Given the description of an element on the screen output the (x, y) to click on. 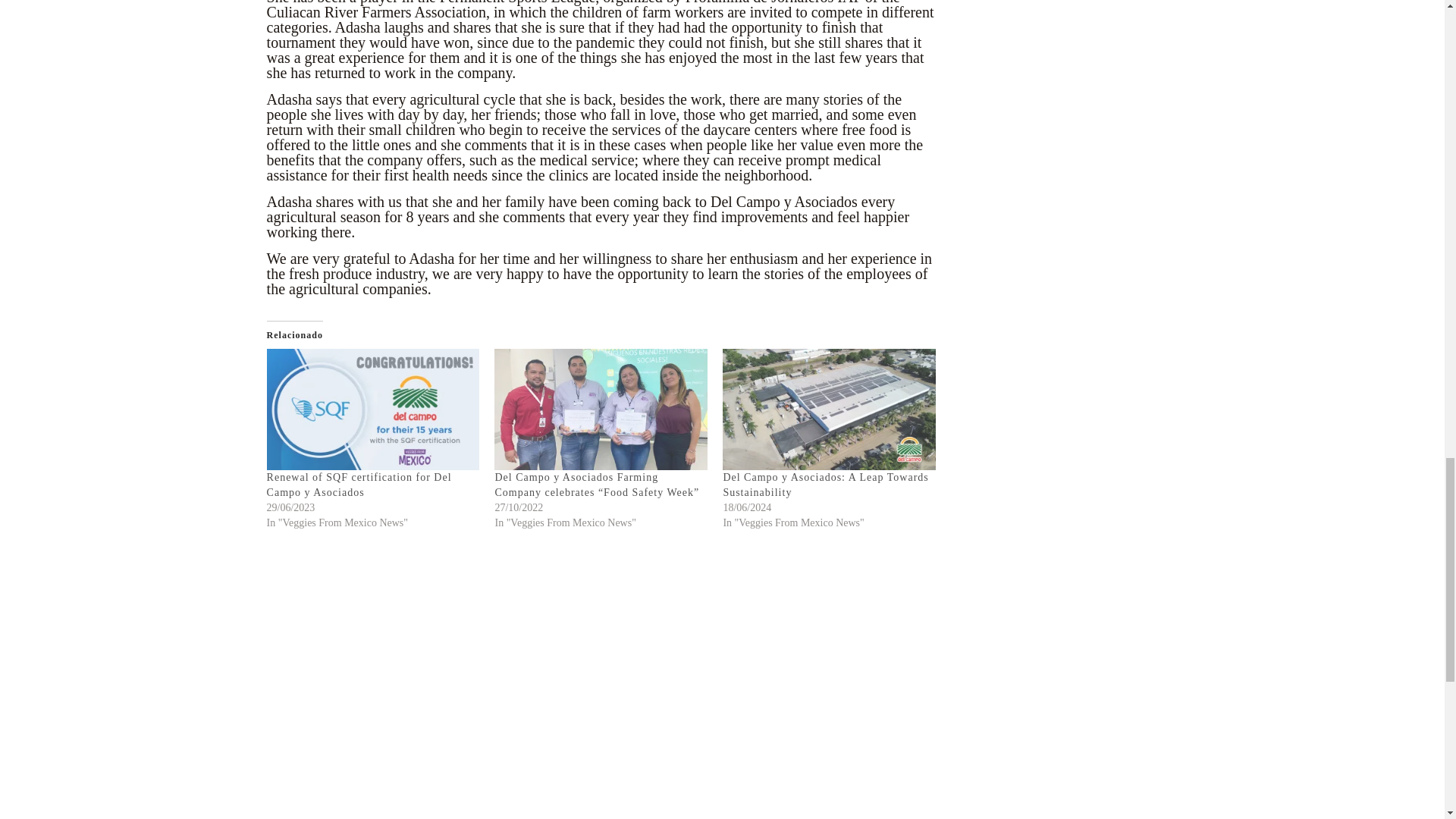
Del Campo y Asociados: A Leap Towards Sustainability (829, 409)
Renewal of SQF certification for Del Campo y Asociados (373, 409)
Renewal of SQF certification for Del Campo y Asociados (358, 484)
Renewal of SQF certification for Del Campo y Asociados (358, 484)
Del Campo y Asociados: A Leap Towards Sustainability (825, 484)
Del Campo y Asociados: A Leap Towards Sustainability (825, 484)
